Given the description of an element on the screen output the (x, y) to click on. 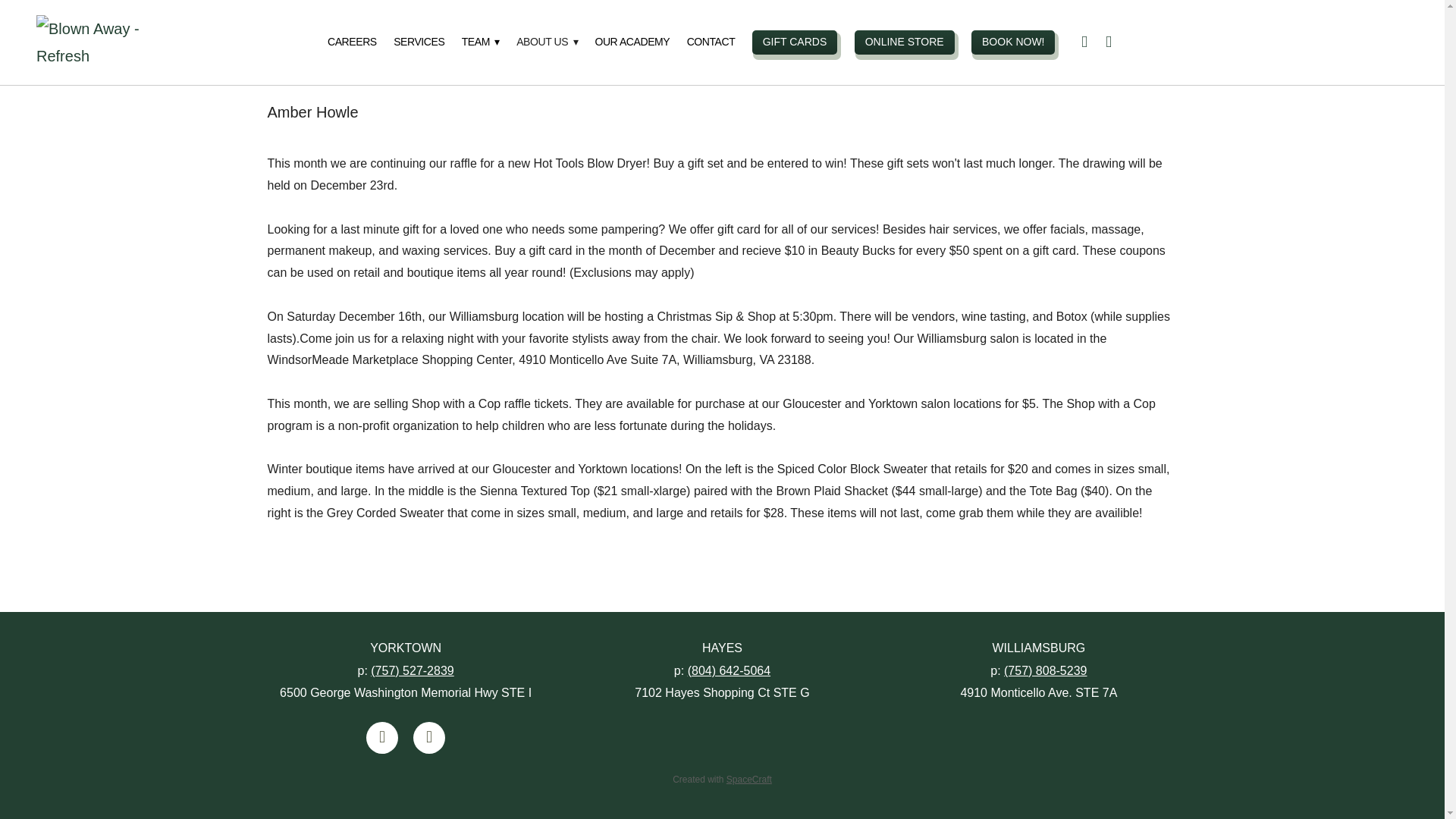
CONTACT (711, 42)
BOOK NOW! (1012, 42)
GIFT CARDS (795, 42)
Blown Away - Refresh (109, 42)
ONLINE STORE (904, 42)
OUR ACADEMY (631, 42)
CAREERS (352, 42)
SERVICES (418, 42)
Created with SpaceCraft (721, 778)
